Given the description of an element on the screen output the (x, y) to click on. 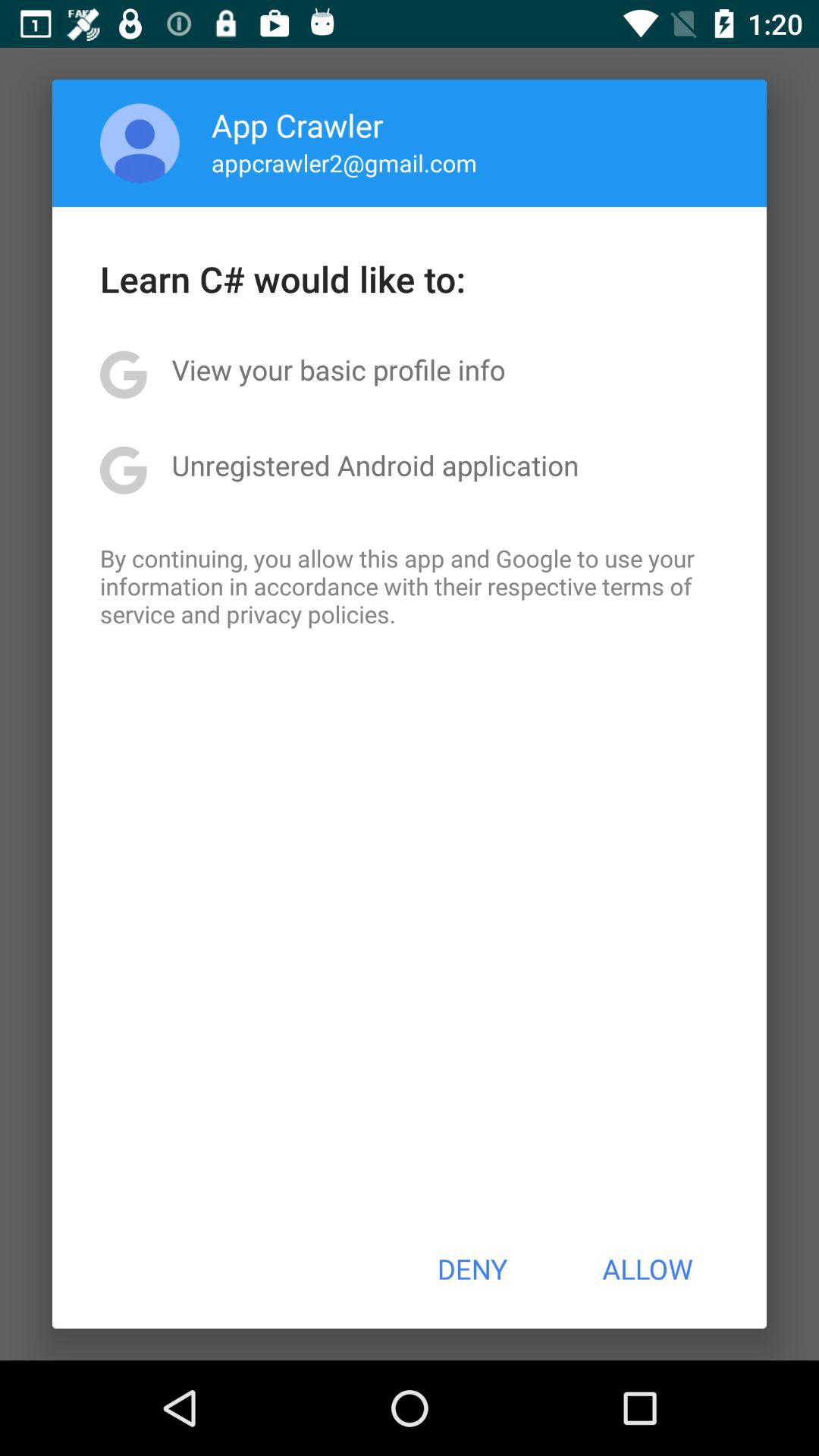
open the app above the learn c would app (344, 162)
